Given the description of an element on the screen output the (x, y) to click on. 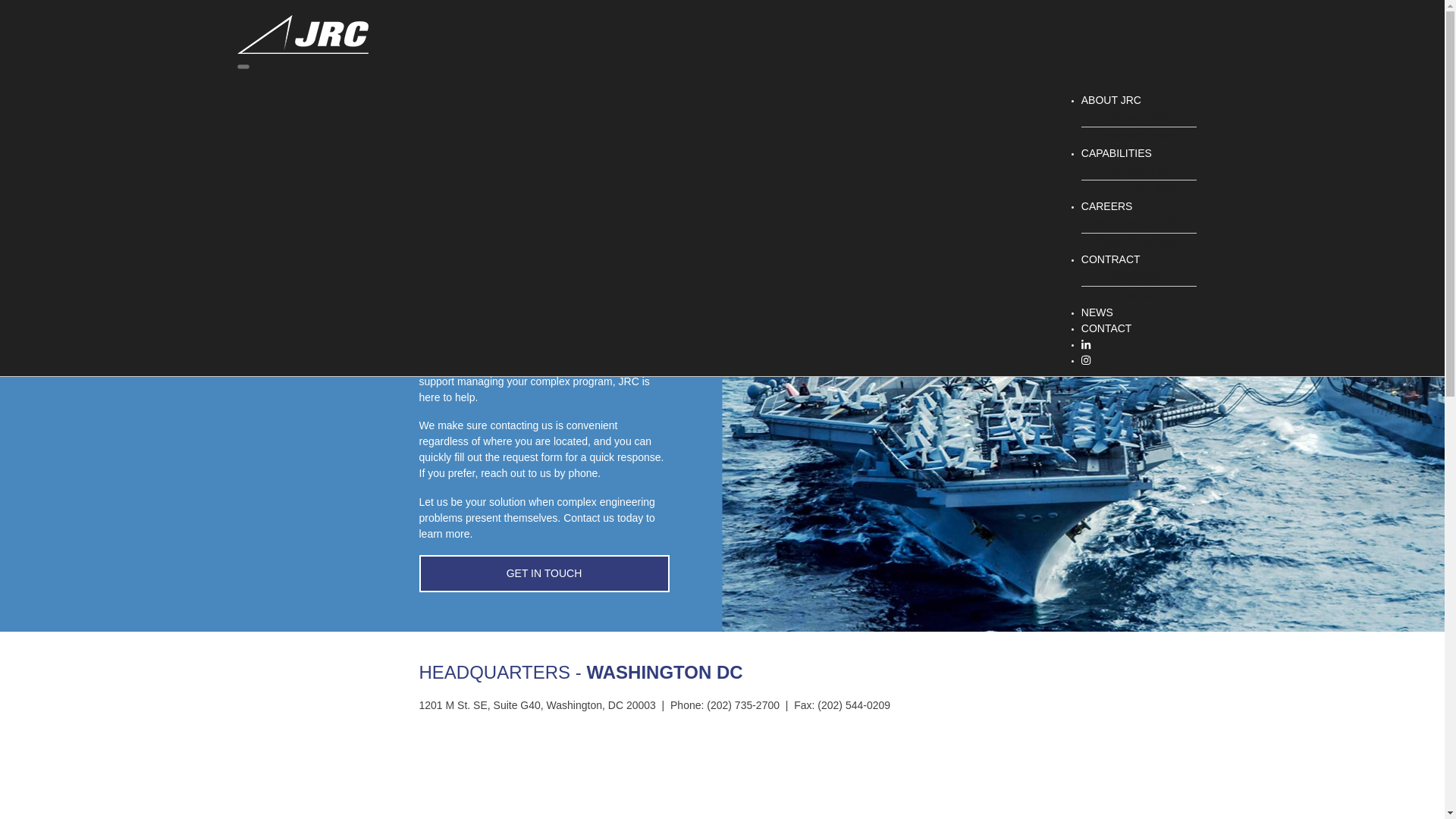
How We Work (1138, 135)
Partners (1138, 294)
CAREERS (1106, 205)
NEWS (1097, 312)
Toggle navigation (241, 66)
Contracts (1138, 276)
Open Positions (1138, 242)
GET IN TOUCH (543, 573)
CAPABILITIES (1116, 152)
CONTACT (1106, 328)
Working at JRC (1138, 222)
Capabilities (1138, 170)
CONTRACT (1110, 259)
Case Studies (1138, 188)
